Given the description of an element on the screen output the (x, y) to click on. 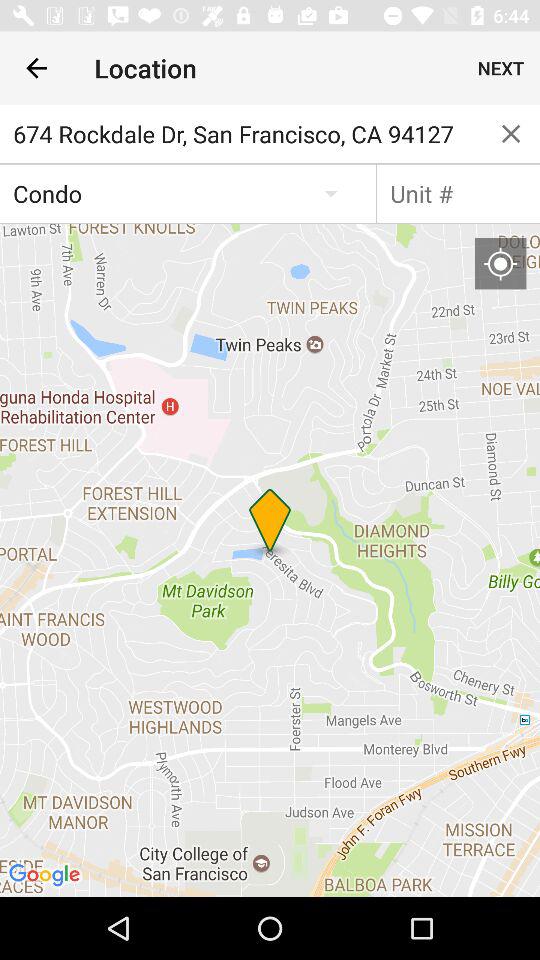
turn on the 674 rockdale dr (241, 134)
